Given the description of an element on the screen output the (x, y) to click on. 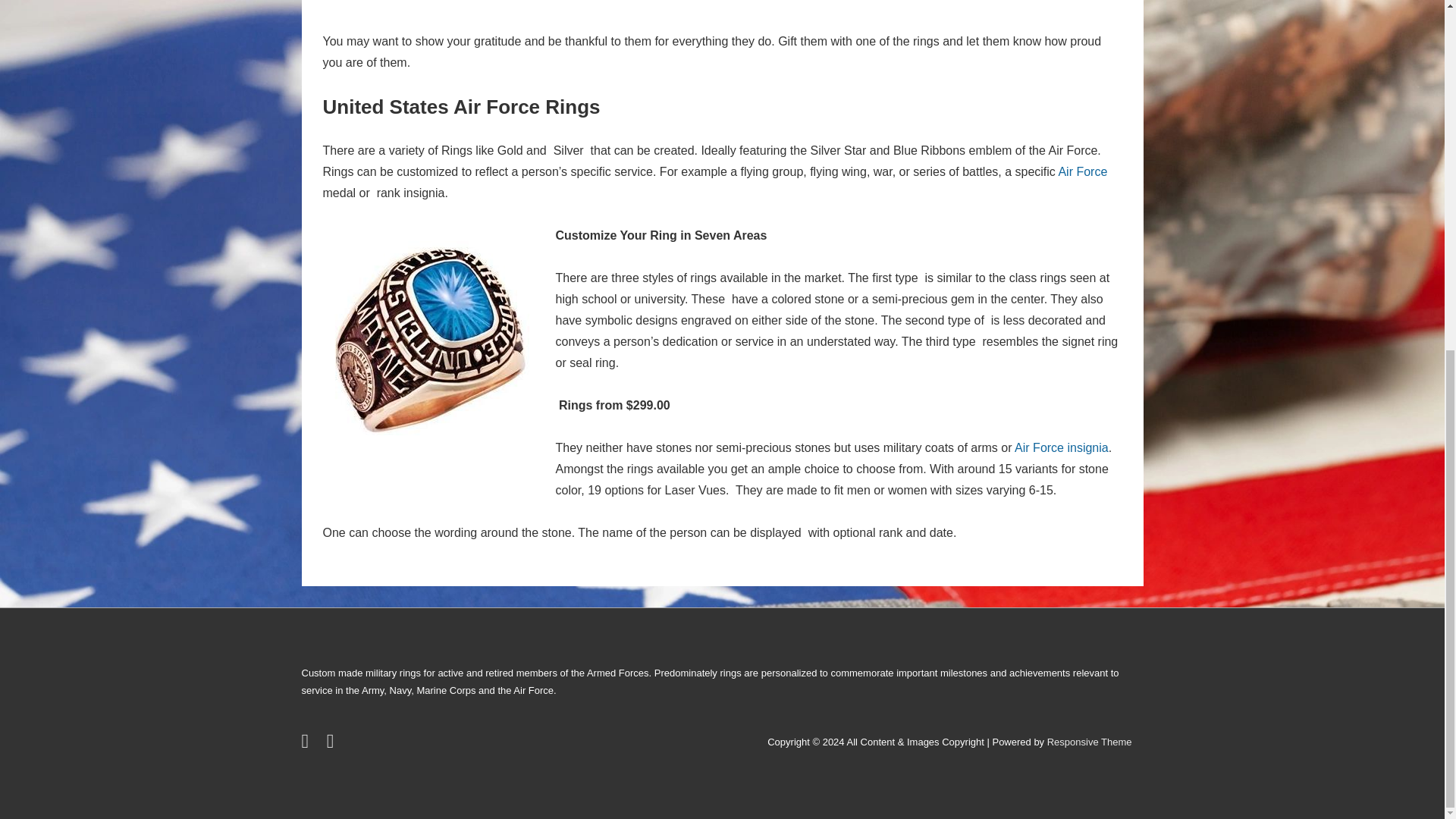
Responsive Theme (1089, 741)
Air Force (1082, 171)
facebook (331, 744)
twitter (308, 744)
Air Force insignia (1061, 447)
